Given the description of an element on the screen output the (x, y) to click on. 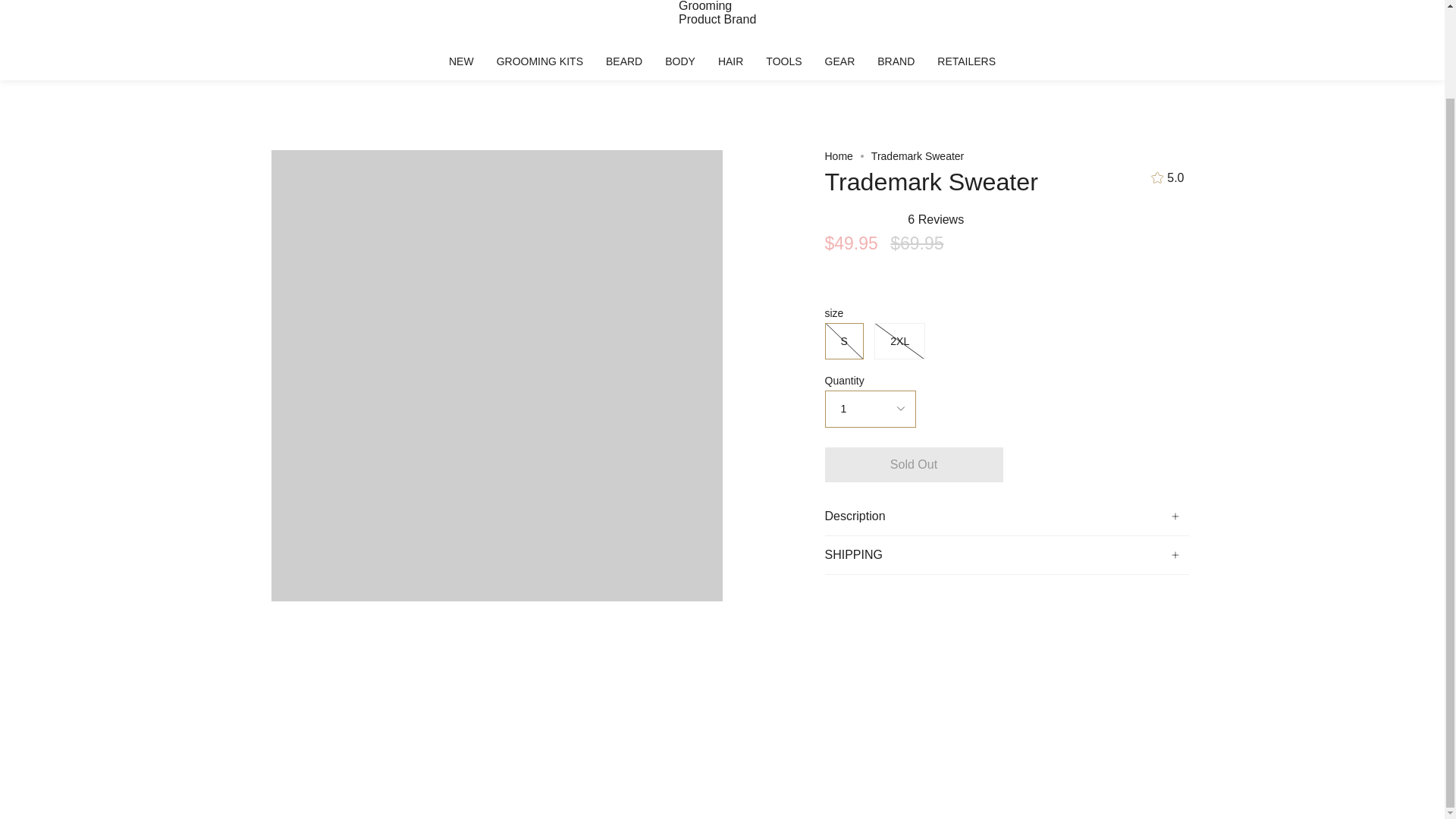
GROOMING KITS (539, 61)
NEW (461, 61)
